Given the description of an element on the screen output the (x, y) to click on. 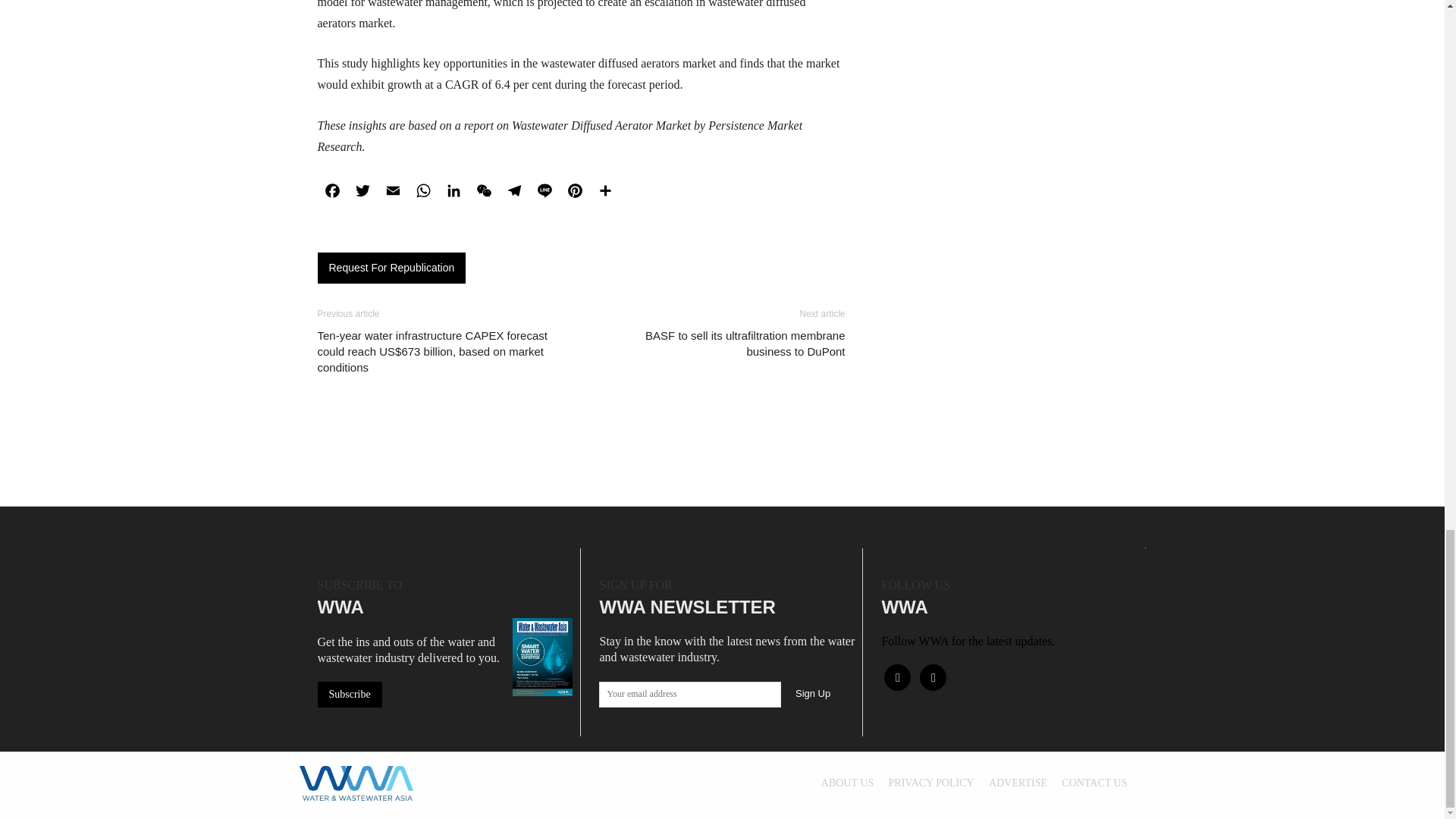
Facebook (332, 191)
Twitter (362, 191)
WhatsApp (422, 191)
LinkedIn (453, 191)
Email (392, 191)
WeChat (483, 191)
Sign Up (812, 693)
Subscribe (349, 694)
Telegram (514, 191)
Line (544, 191)
Pinterest (574, 191)
